Given the description of an element on the screen output the (x, y) to click on. 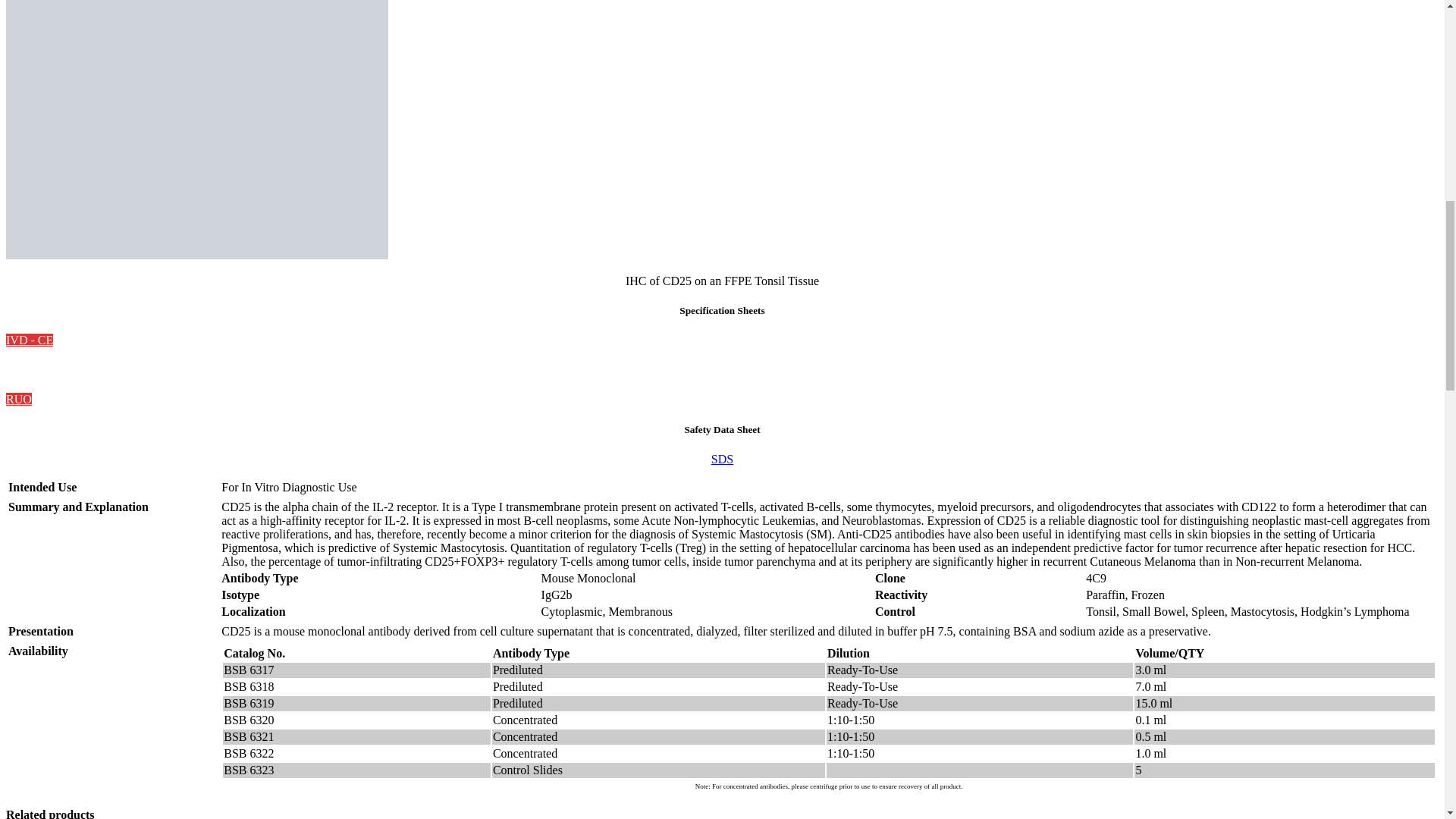
IVD - CE (28, 339)
RUO (18, 399)
Cd25 - Mmab 1 (196, 129)
SDS (722, 459)
